Given the description of an element on the screen output the (x, y) to click on. 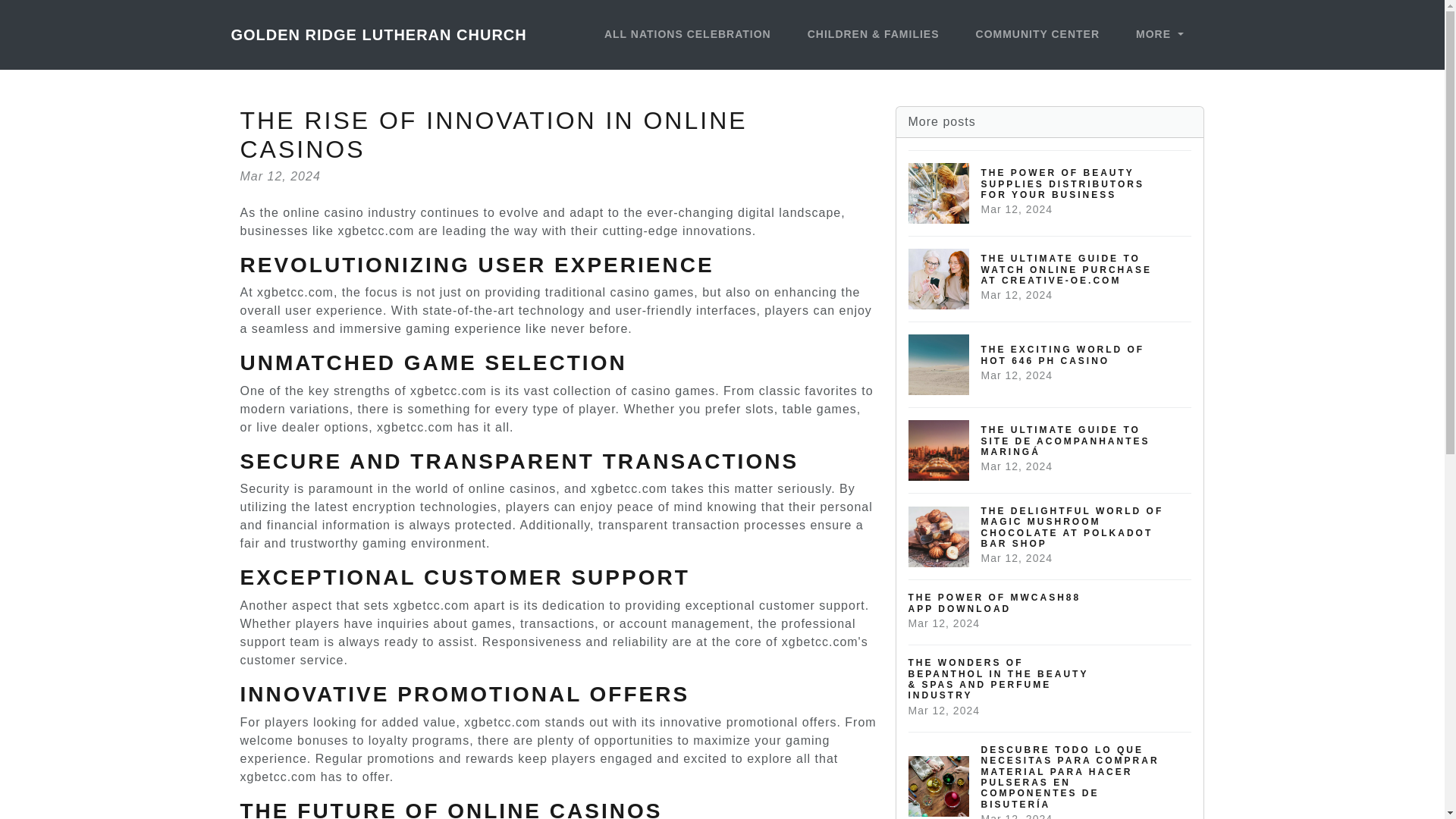
MORE (1050, 364)
ALL NATIONS CELEBRATION (1159, 34)
GOLDEN RIDGE LUTHERAN CHURCH (1050, 611)
COMMUNITY CENTER (687, 34)
